Given the description of an element on the screen output the (x, y) to click on. 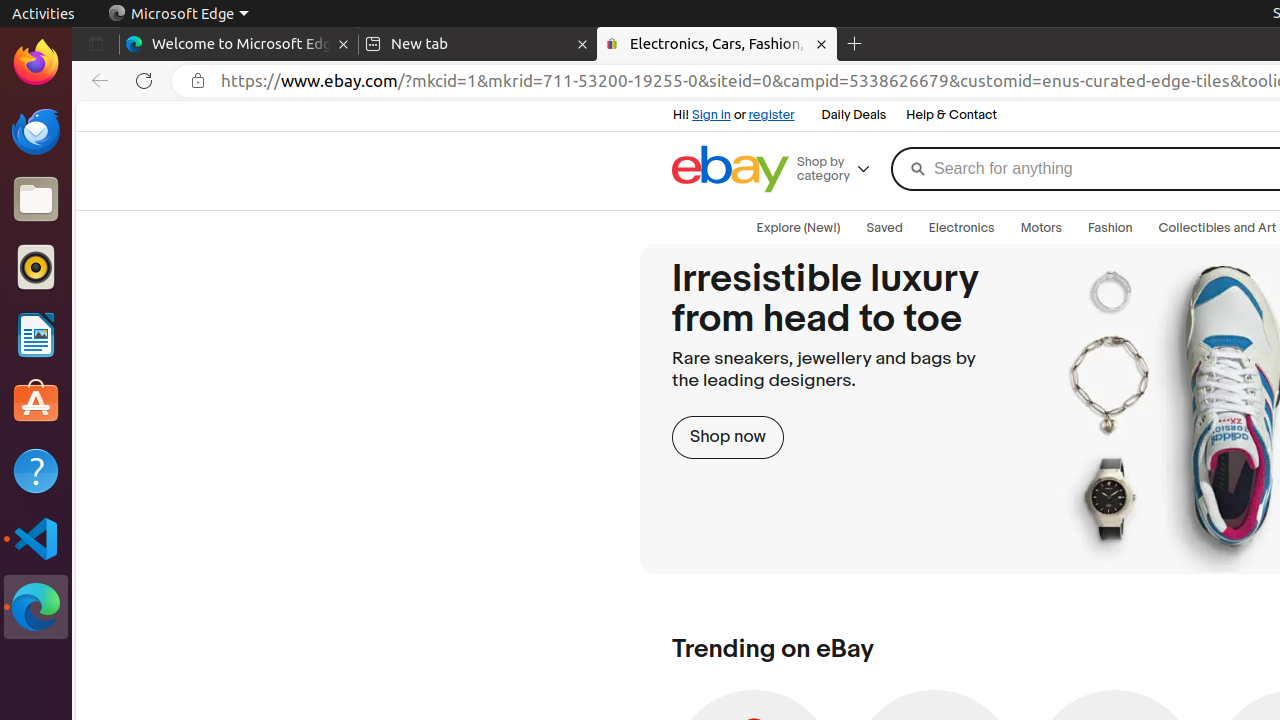
Rhythmbox Element type: push-button (36, 267)
Help & Contact Element type: link (951, 115)
Tab actions menu Element type: push-button (96, 44)
New Tab Element type: push-button (855, 44)
Collectibles and Art Element type: link (1217, 228)
